Given the description of an element on the screen output the (x, y) to click on. 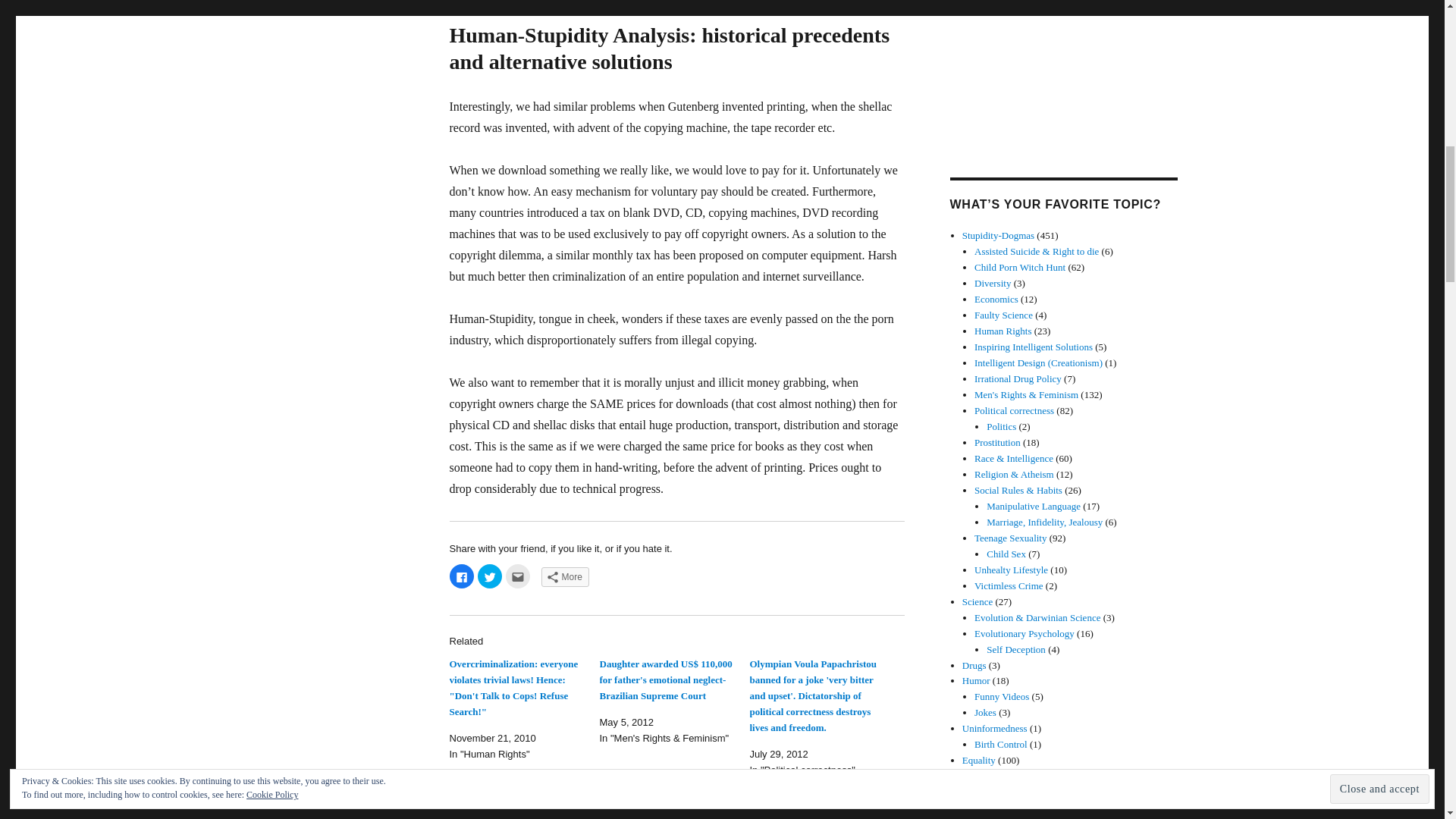
Click to email this to a friend (517, 576)
Click to share on Twitter (489, 576)
More (565, 577)
Click to share on Facebook (460, 576)
